Given the description of an element on the screen output the (x, y) to click on. 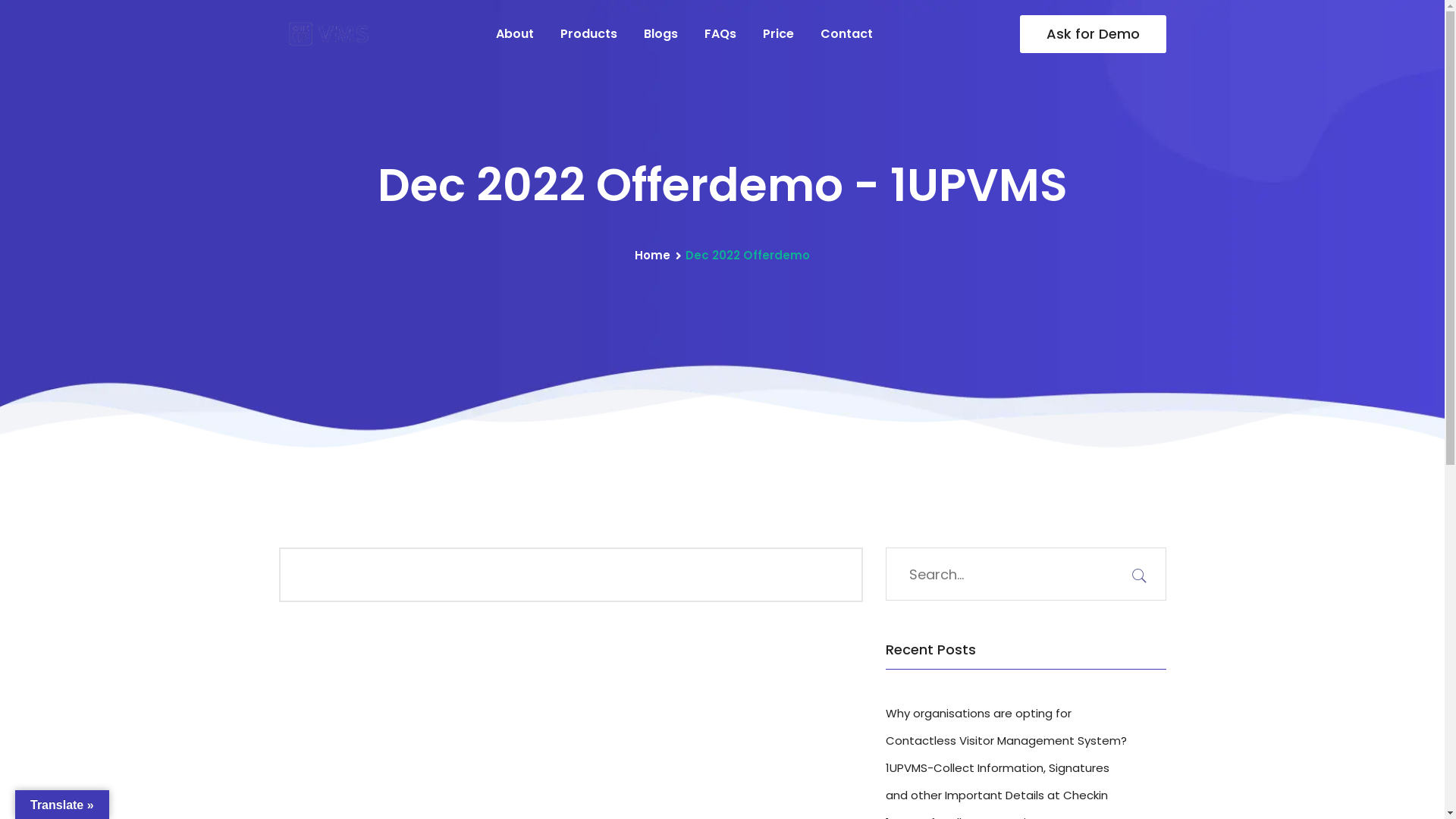
Price Element type: text (777, 33)
Blogs Element type: text (660, 33)
About Element type: text (514, 33)
FAQs Element type: text (720, 33)
Contact Element type: text (846, 33)
Title Element type: hover (327, 34)
Products Element type: text (588, 33)
Ask for Demo Element type: text (1092, 34)
Home Element type: text (652, 255)
